Given the description of an element on the screen output the (x, y) to click on. 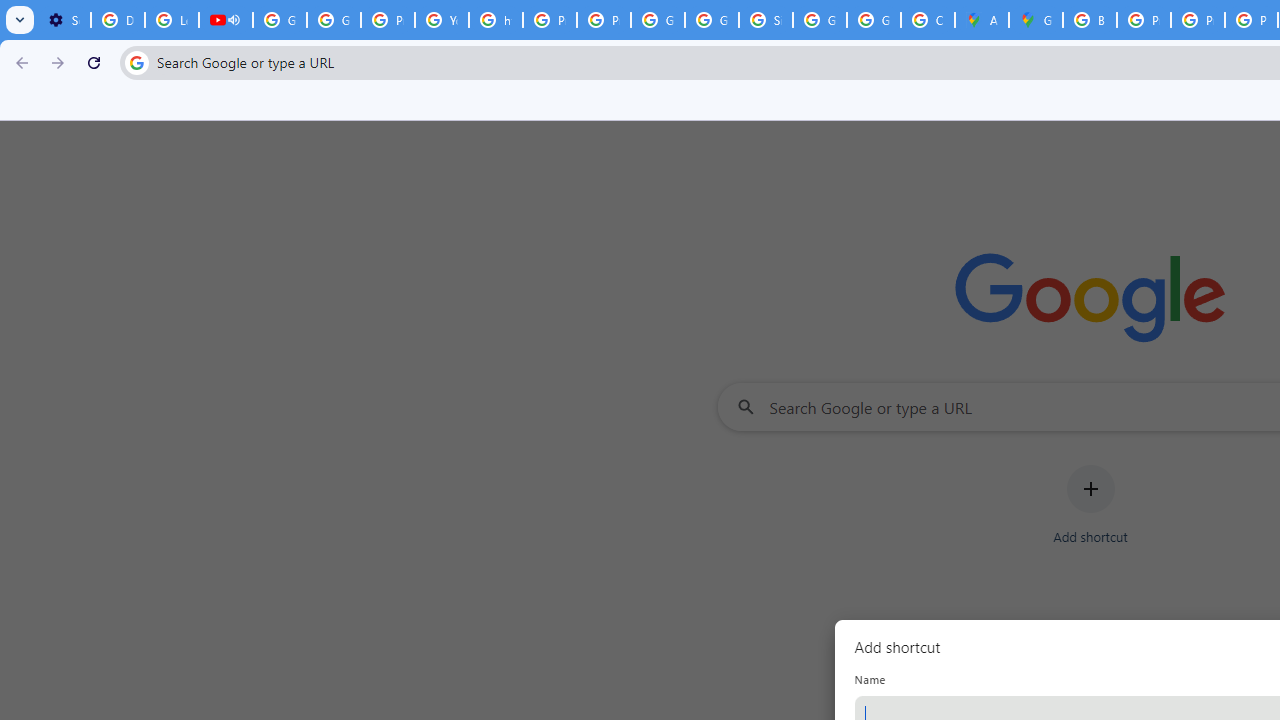
Privacy Help Center - Policies Help (1144, 20)
YouTube (441, 20)
Blogger Policies and Guidelines - Transparency Center (1089, 20)
Privacy Help Center - Policies Help (387, 20)
Privacy Help Center - Policies Help (1197, 20)
Create your Google Account (927, 20)
Sign in - Google Accounts (765, 20)
